Given the description of an element on the screen output the (x, y) to click on. 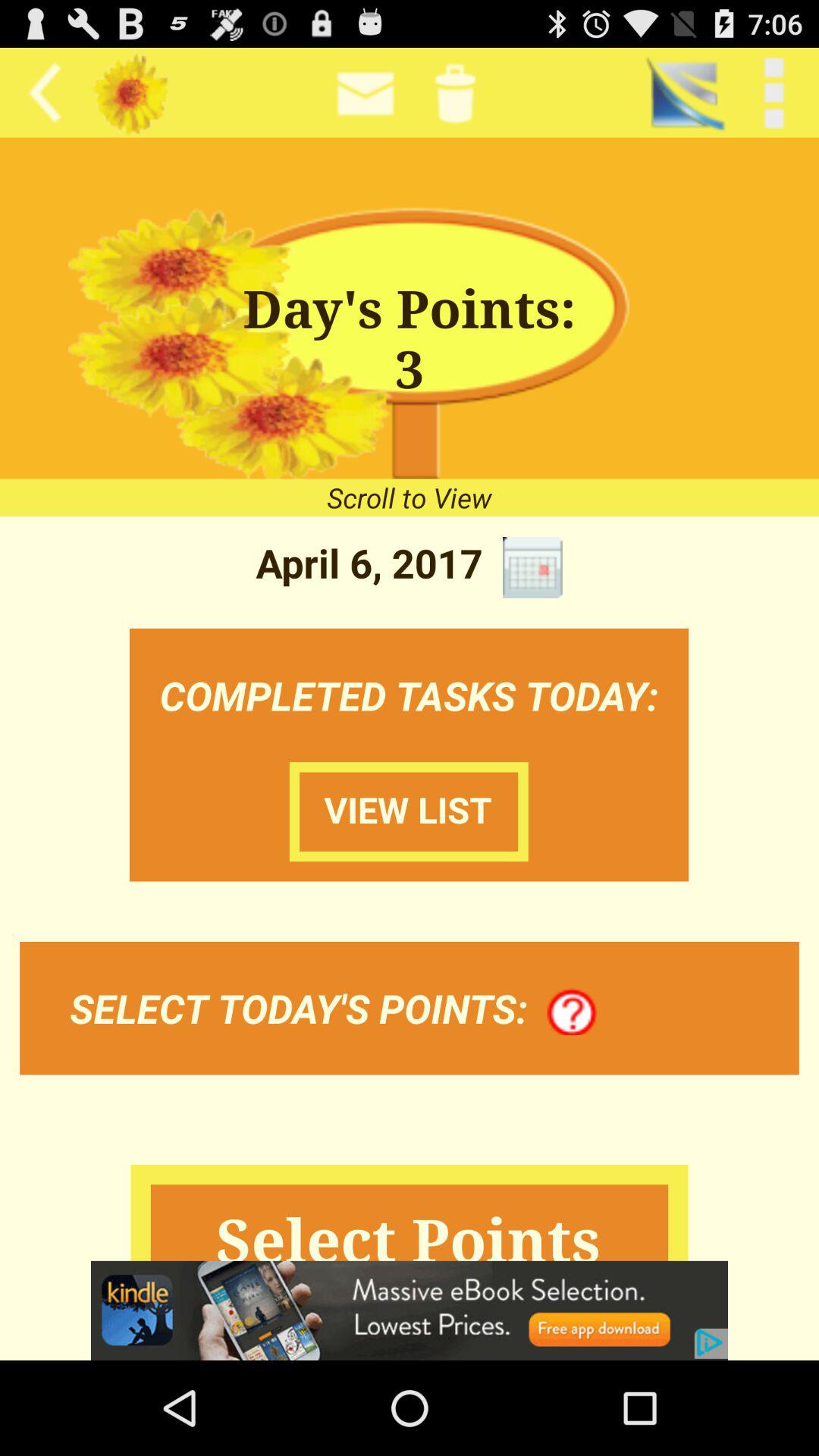
press the app to the left of < back icon (684, 92)
